Given the description of an element on the screen output the (x, y) to click on. 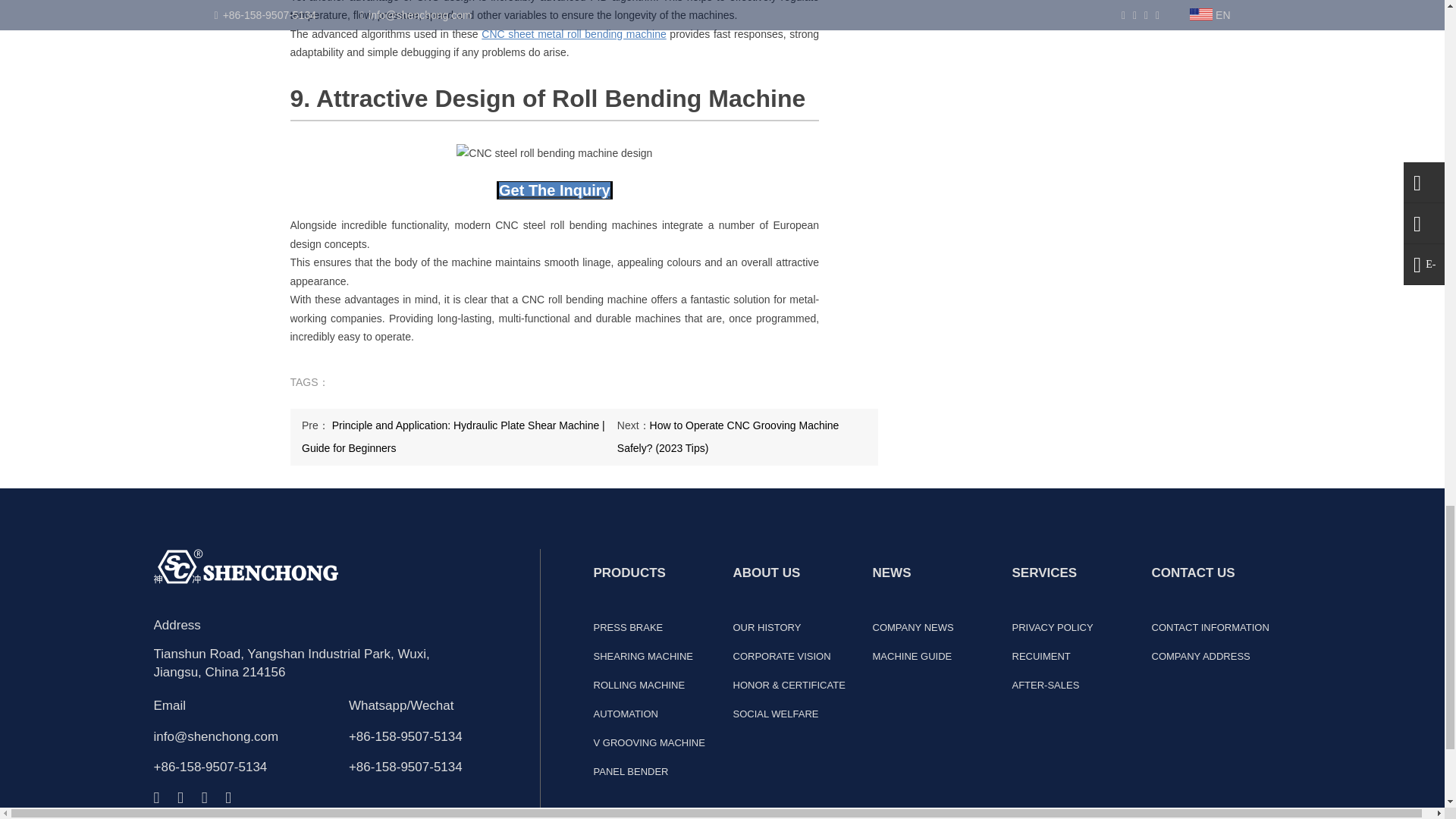
SHEARING MACHINE (642, 655)
PRESS BRAKE (627, 627)
Get The Inquiry (554, 189)
ROLLING MACHINE (638, 685)
CNC steel roll bending machine design (554, 153)
Get Inquiry (554, 189)
CNC sheet metal roll bending machine (573, 33)
CNC Plate Rolling Machine For Sale (573, 33)
